Given the description of an element on the screen output the (x, y) to click on. 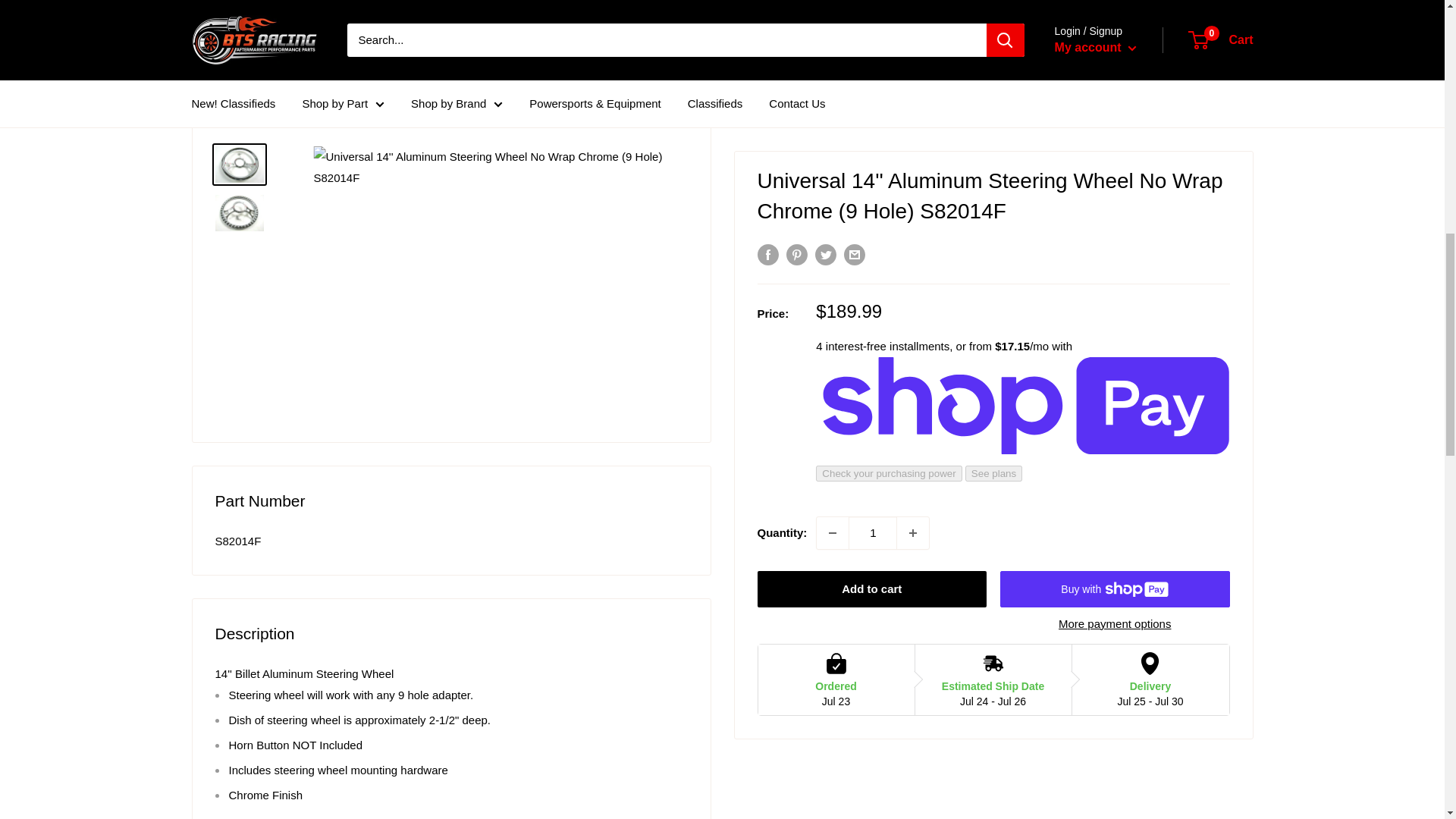
Increase quantity by 1 (912, 504)
1 (872, 504)
Decrease quantity by 1 (832, 504)
